Given the description of an element on the screen output the (x, y) to click on. 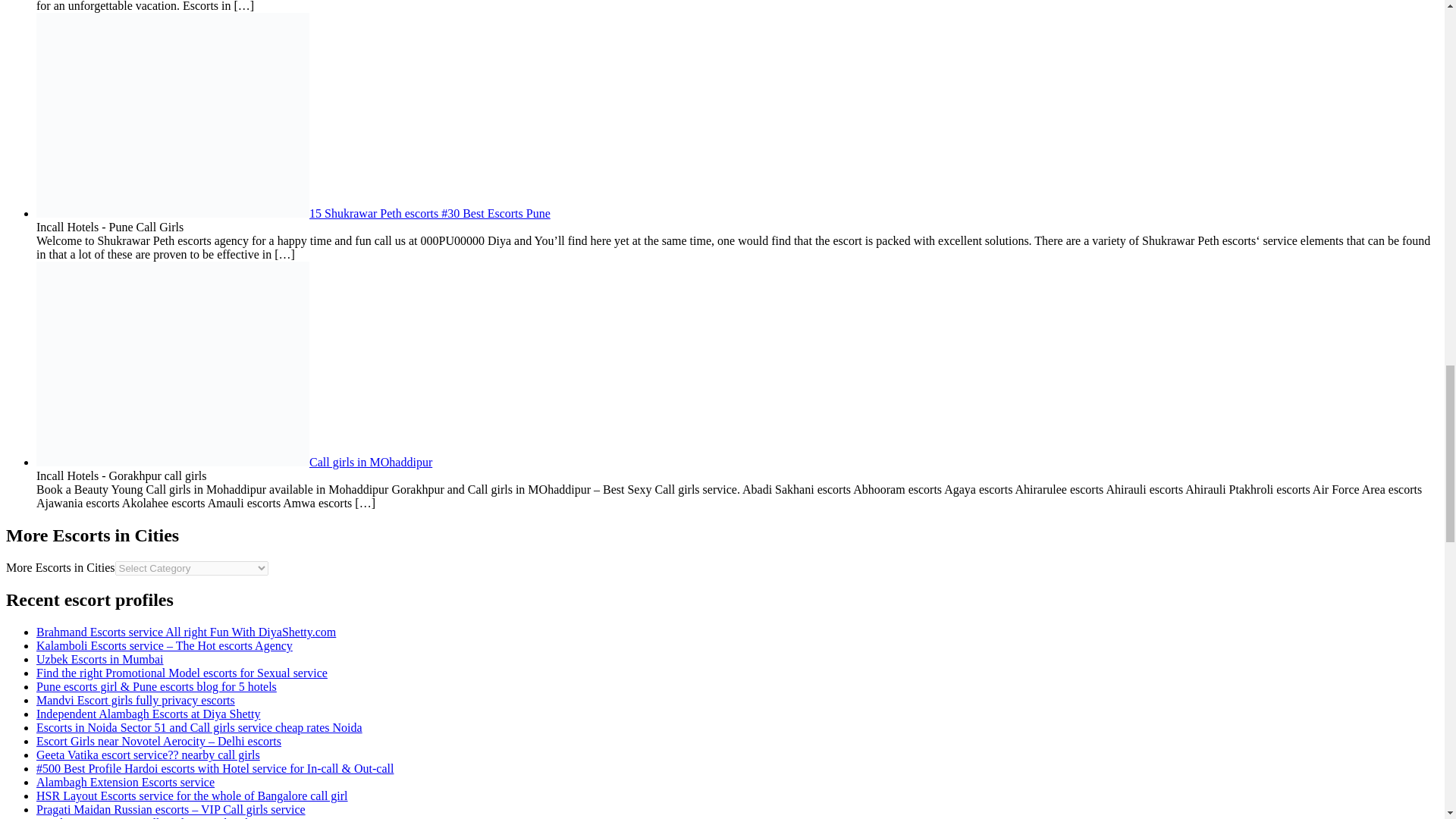
Uzbek Escorts in Mumbai (99, 658)
Independent Alambagh Escorts at Diya Shetty (148, 713)
Brahmand Escorts service All right Fun With DiyaShetty.com (186, 631)
Call girls in MOhaddipur (234, 461)
Find the right Promotional Model escorts for Sexual service (181, 672)
Mandvi Escort girls fully privacy escorts (135, 699)
